Given the description of an element on the screen output the (x, y) to click on. 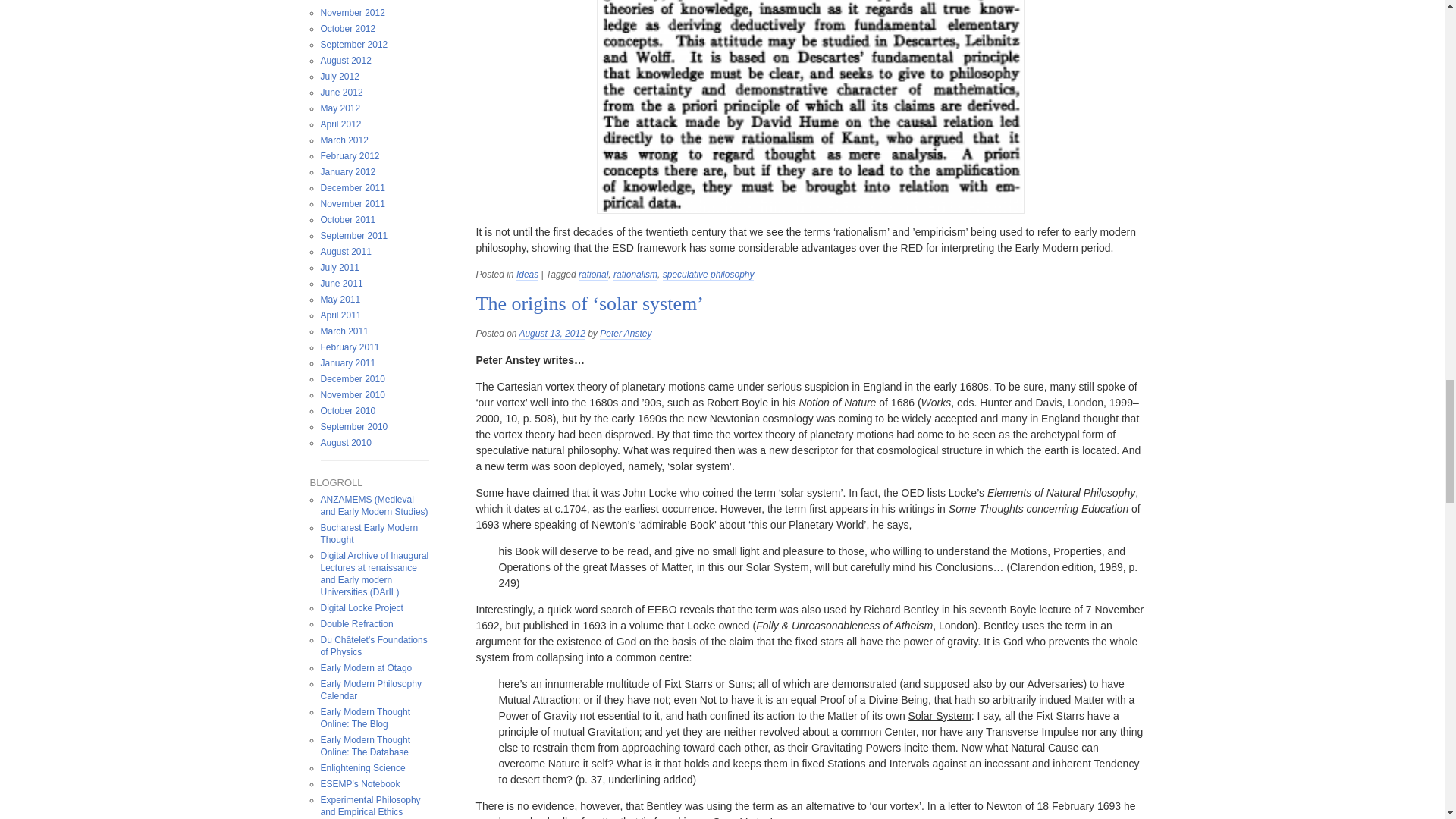
News from the European Society for Early Modern Philosophy (359, 783)
Videos on Newton (362, 767)
Early Modern Philosophy Calendar (370, 689)
Early Modern at Otago (366, 667)
The Digital Locke Project (361, 607)
